Given the description of an element on the screen output the (x, y) to click on. 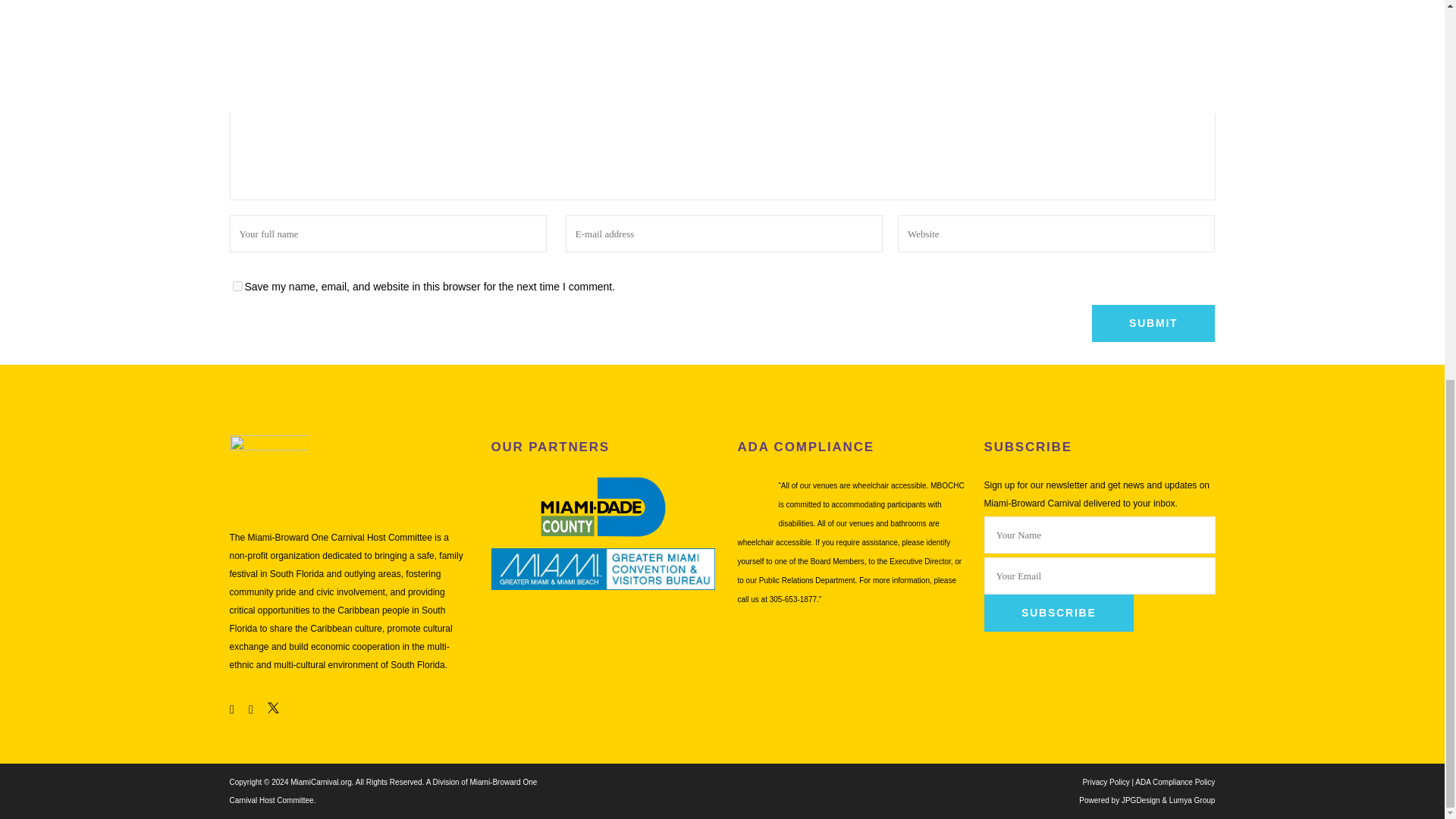
Submit (1153, 323)
yes (236, 286)
Subscribe (1059, 612)
